Given the description of an element on the screen output the (x, y) to click on. 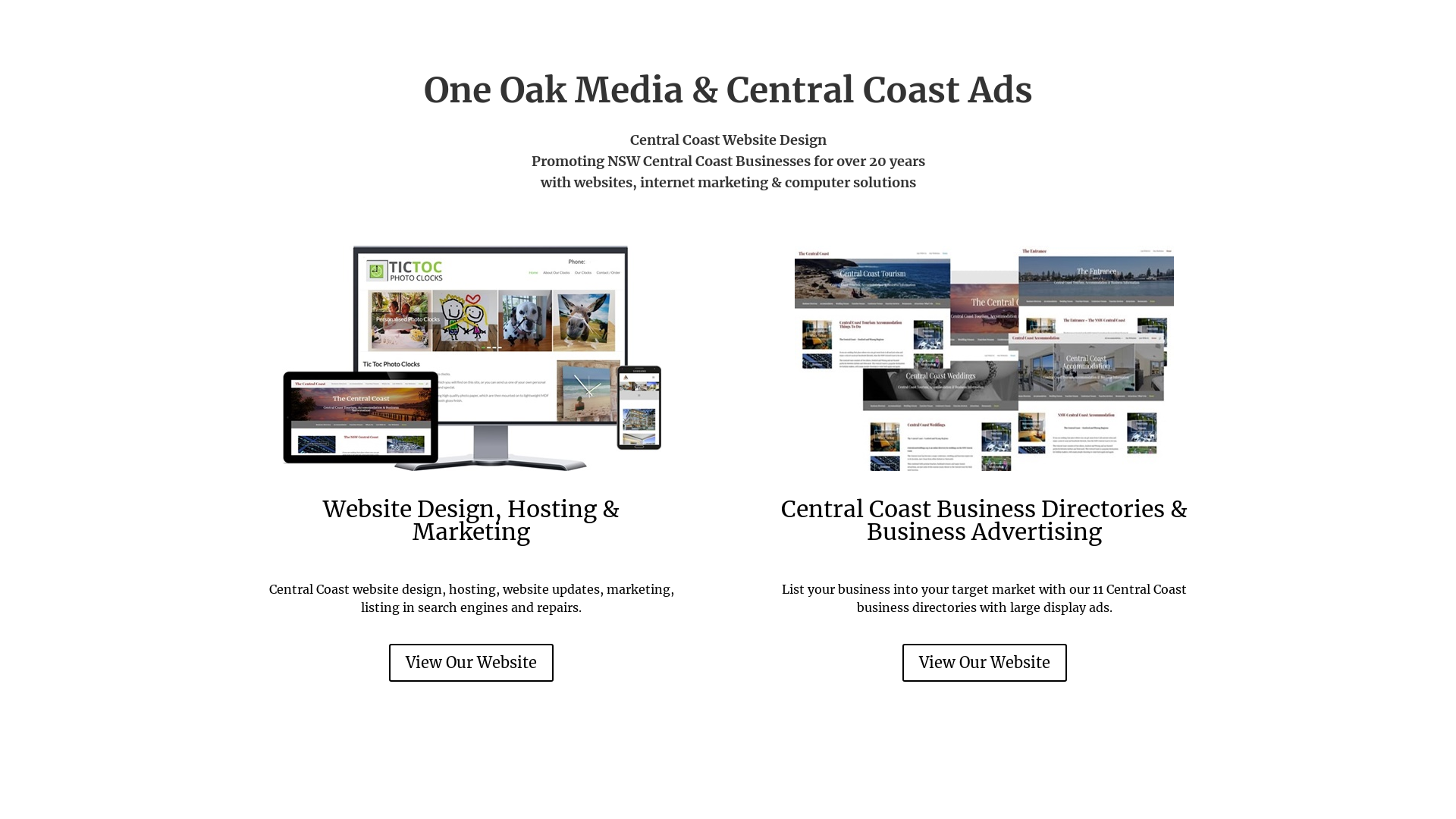
View Our Website Element type: text (984, 662)
Central Coast Business Directories & Business Advertising Element type: text (984, 520)
Website Design, Hosting & Marketing Element type: text (471, 520)
View Our Website Element type: text (471, 662)
